Given the description of an element on the screen output the (x, y) to click on. 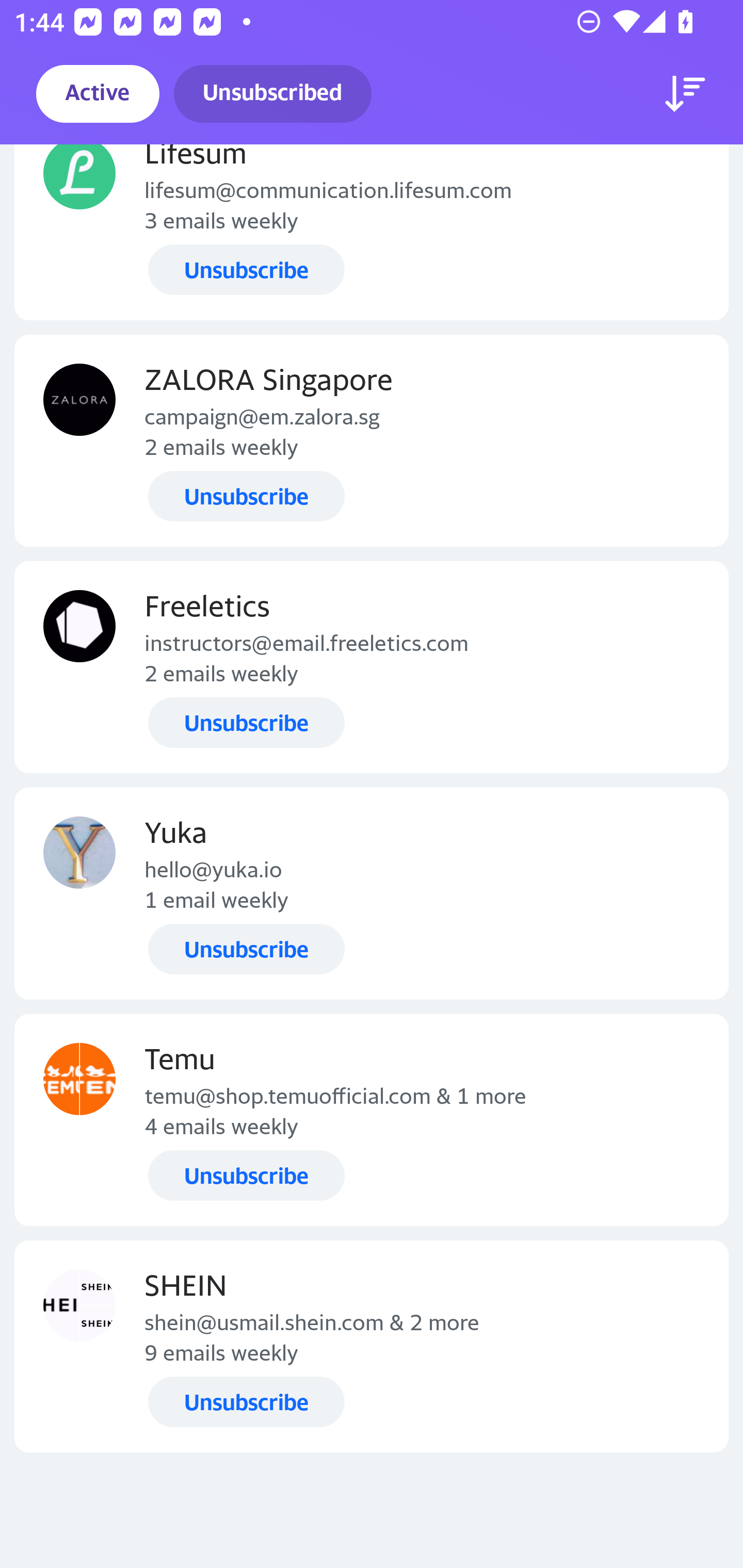
Unsubscribed (272, 93)
Sort (684, 93)
Unsubscribe (245, 269)
Unsubscribe (245, 496)
Unsubscribe (245, 722)
Yuka hello@yuka.io 1 email weekly Unsubscribe (371, 893)
Unsubscribe (245, 948)
Unsubscribe (245, 1175)
Unsubscribe (245, 1401)
